Given the description of an element on the screen output the (x, y) to click on. 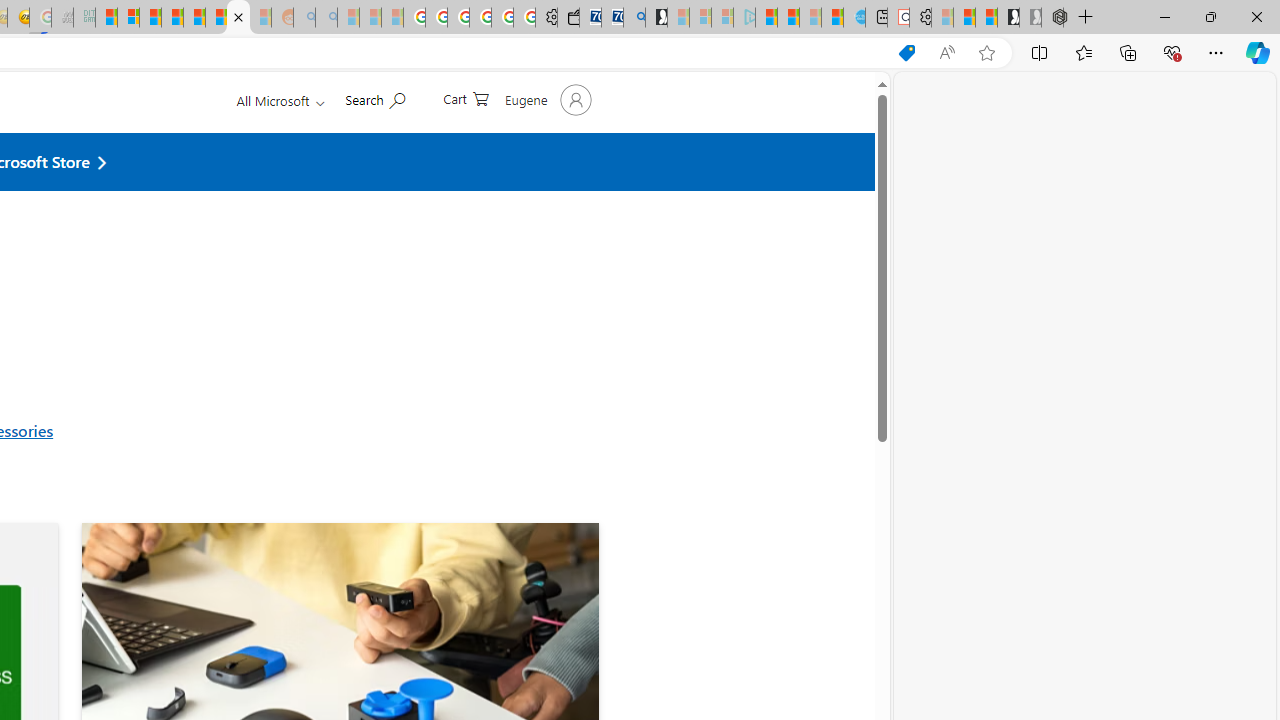
Student Loan Update: Forgiveness Program Ends This Month (172, 17)
Search Microsoft.com (374, 146)
